Given the description of an element on the screen output the (x, y) to click on. 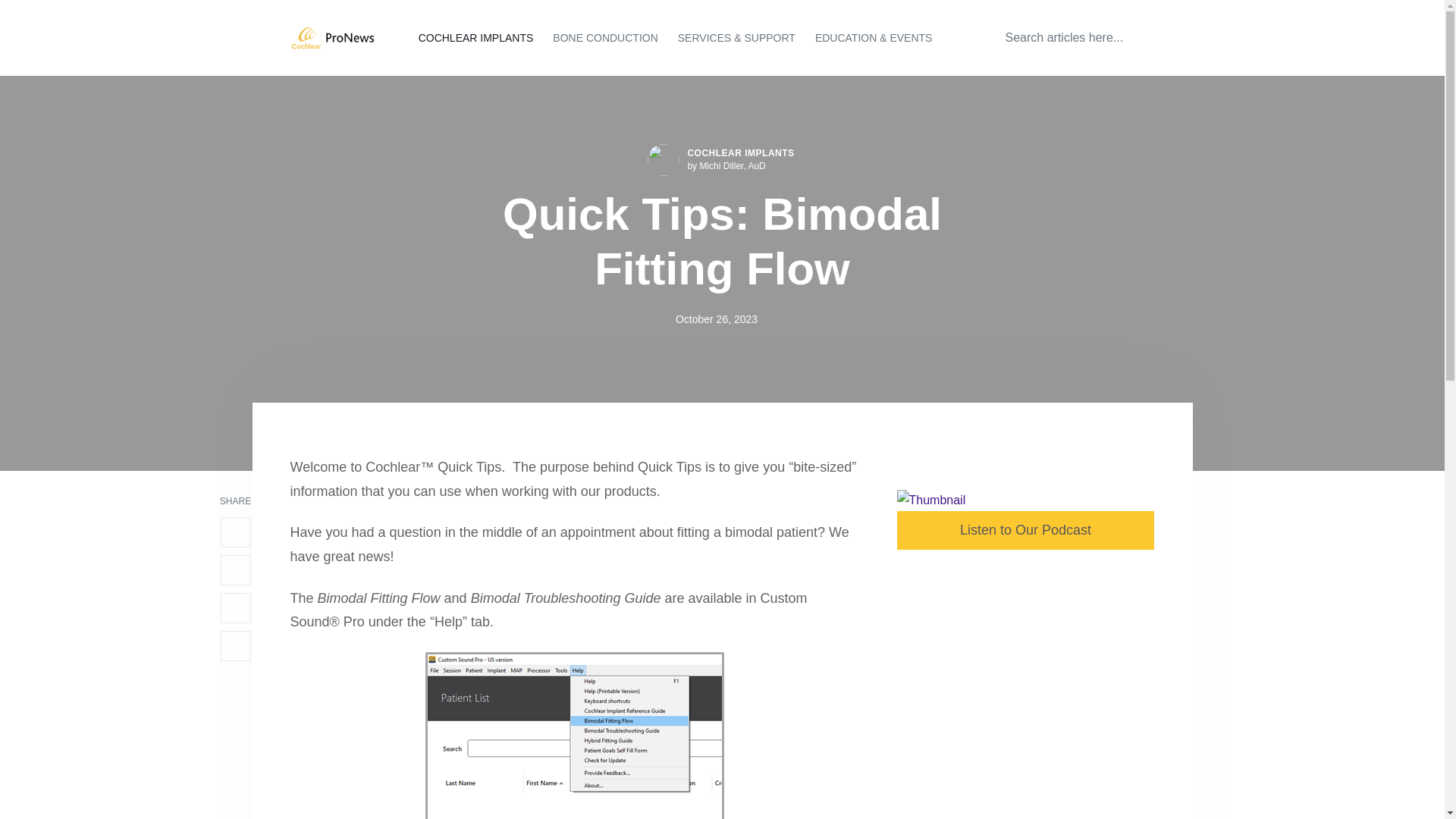
COCHLEAR IMPLANTS (475, 37)
Social Share pinterest (234, 645)
BONE CONDUCTION (604, 37)
COCHLEAR IMPLANTS (740, 153)
Social Share facebook (234, 531)
Social Share twitter (234, 570)
Social Share linkedin (234, 607)
October 26, 2023 (716, 318)
